Given the description of an element on the screen output the (x, y) to click on. 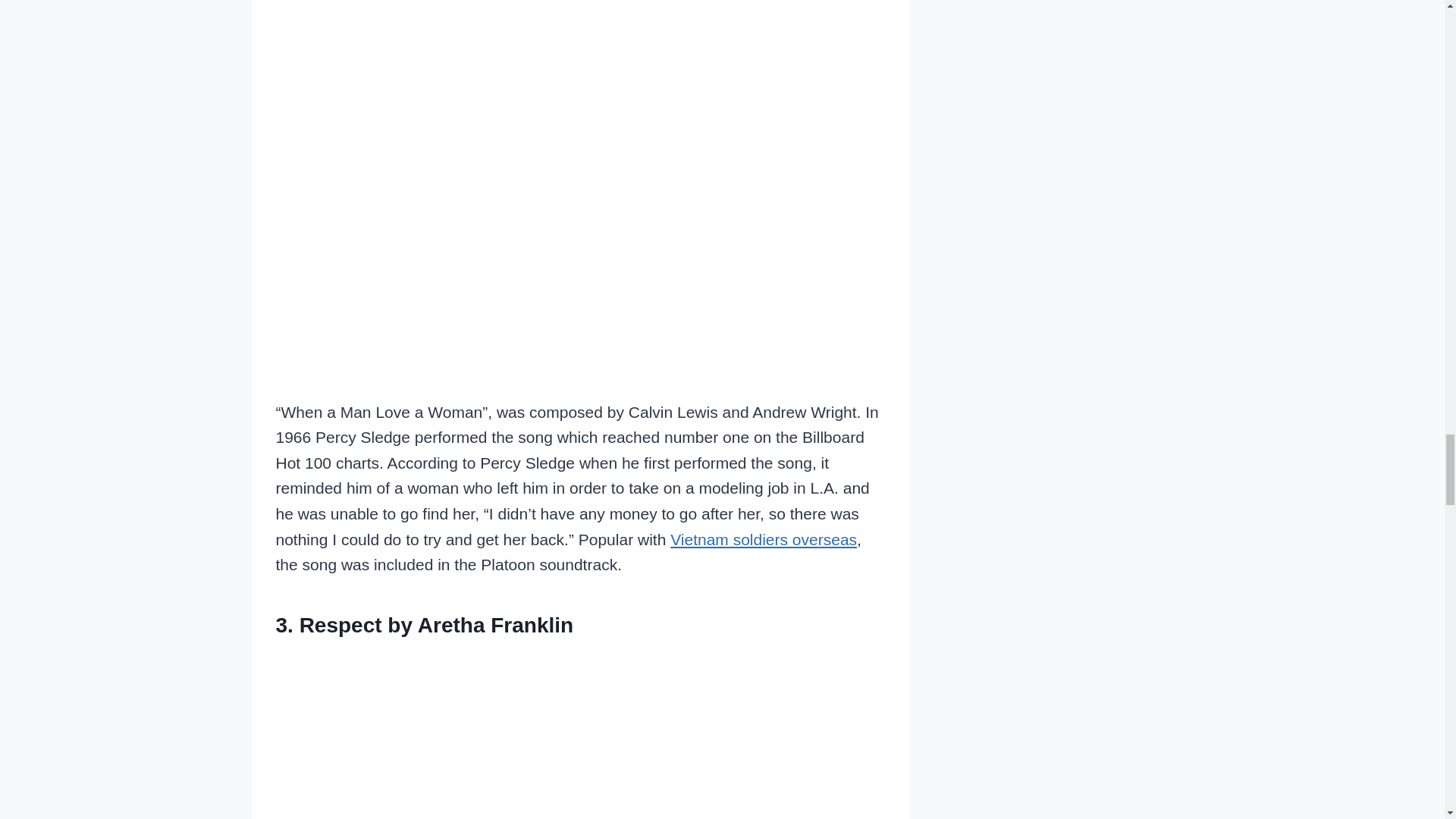
Aretha Franklin (495, 625)
Vietnam soldiers overseas (763, 538)
